Given the description of an element on the screen output the (x, y) to click on. 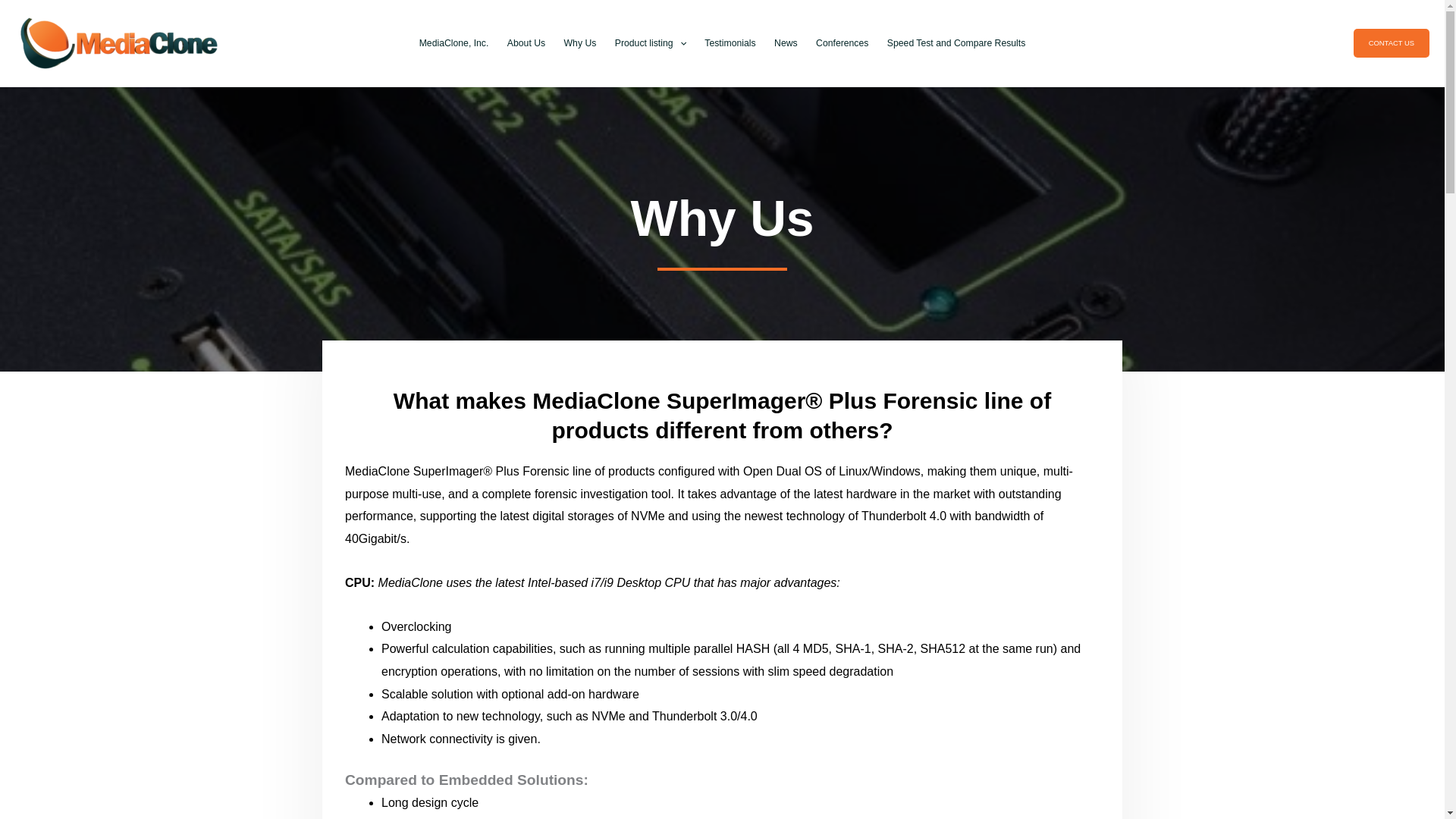
Conferences (841, 43)
Product listing (650, 43)
CONTACT US (1391, 42)
About Us (525, 43)
Speed Test and Compare Results (956, 43)
MediaClone, Inc. (453, 43)
Testimonials (730, 43)
